Given the description of an element on the screen output the (x, y) to click on. 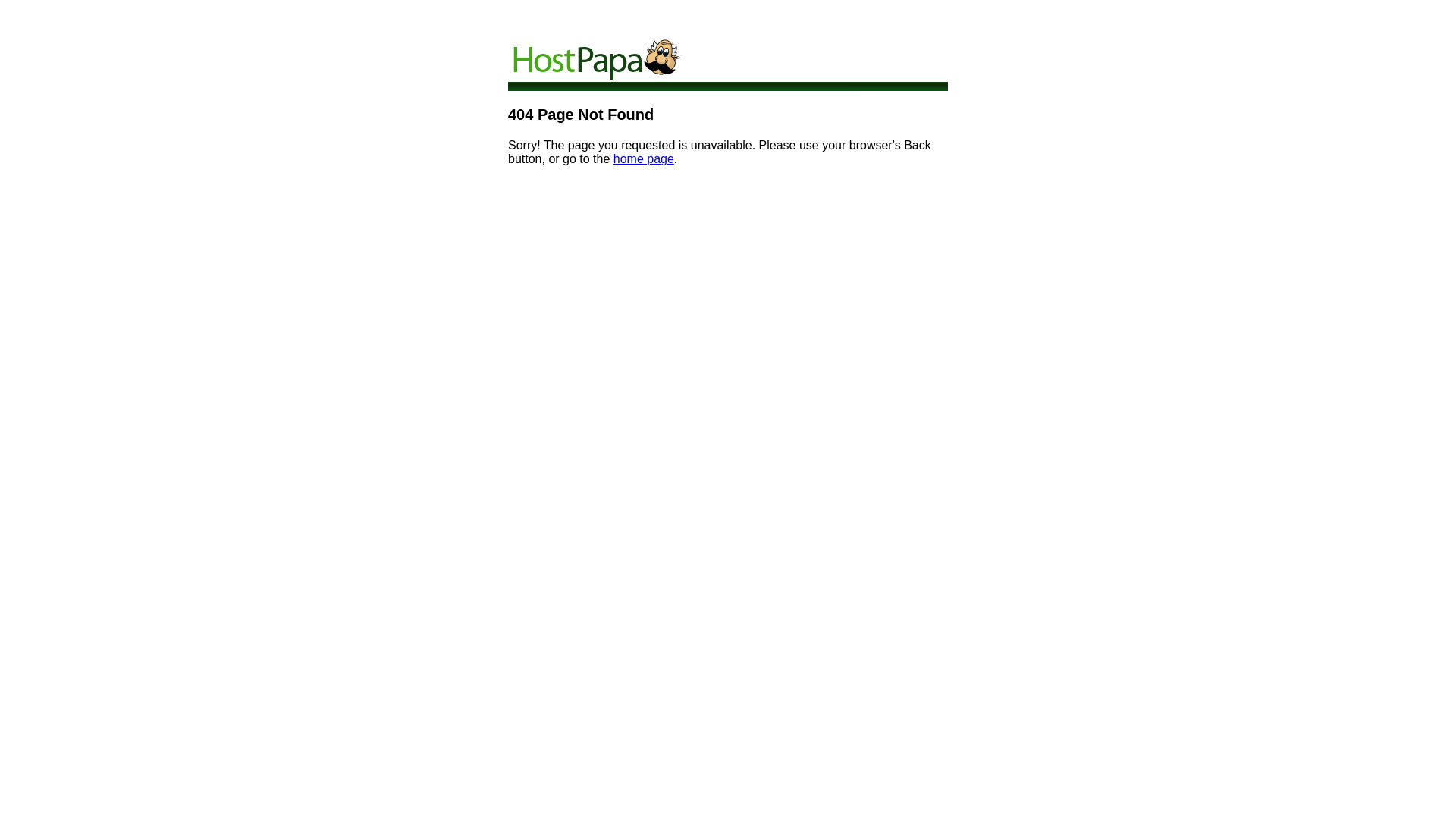
home page Element type: text (643, 158)
